Given the description of an element on the screen output the (x, y) to click on. 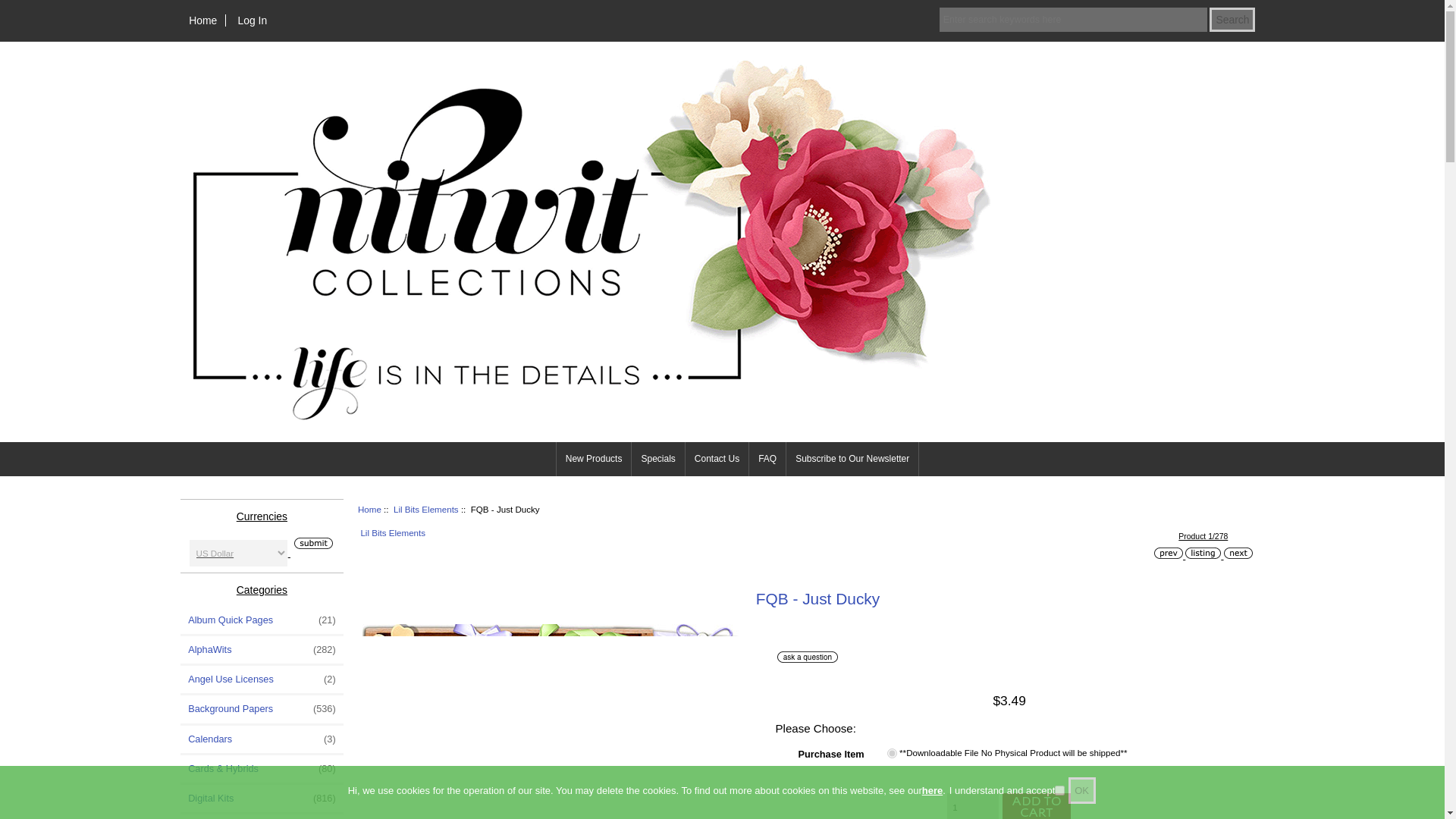
Home (202, 20)
Specials (657, 458)
OK (1082, 790)
Search (1232, 19)
FQB - Just Ducky (551, 721)
Ask a Question (807, 656)
Search (1232, 19)
Log In (251, 20)
Subscribe to Our Newsletter (852, 458)
Next (1238, 552)
